Given the description of an element on the screen output the (x, y) to click on. 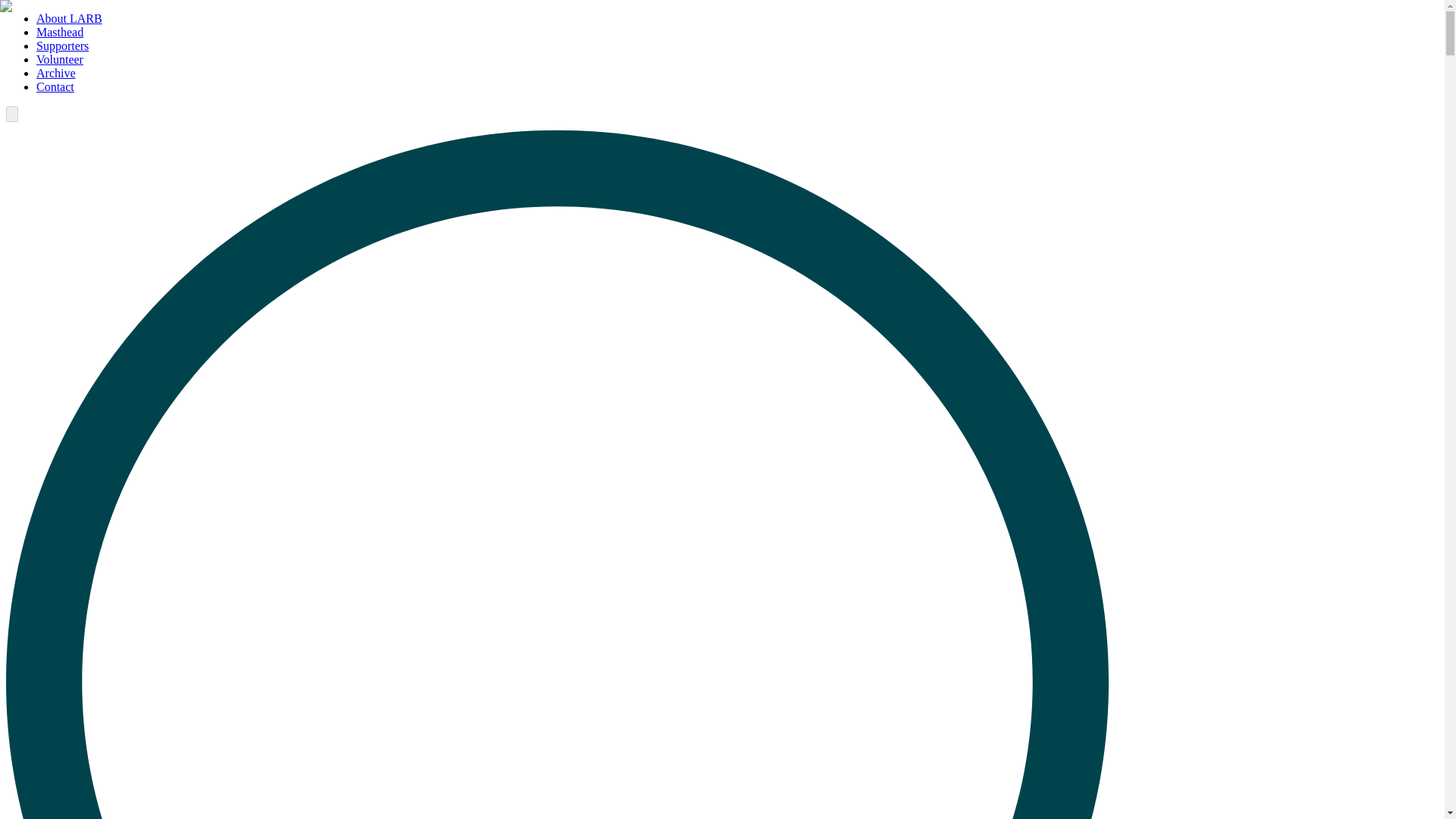
Supporters (62, 45)
Masthead (59, 31)
Archive (55, 72)
Contact (55, 86)
About LARB (68, 18)
Volunteer (59, 59)
